Given the description of an element on the screen output the (x, y) to click on. 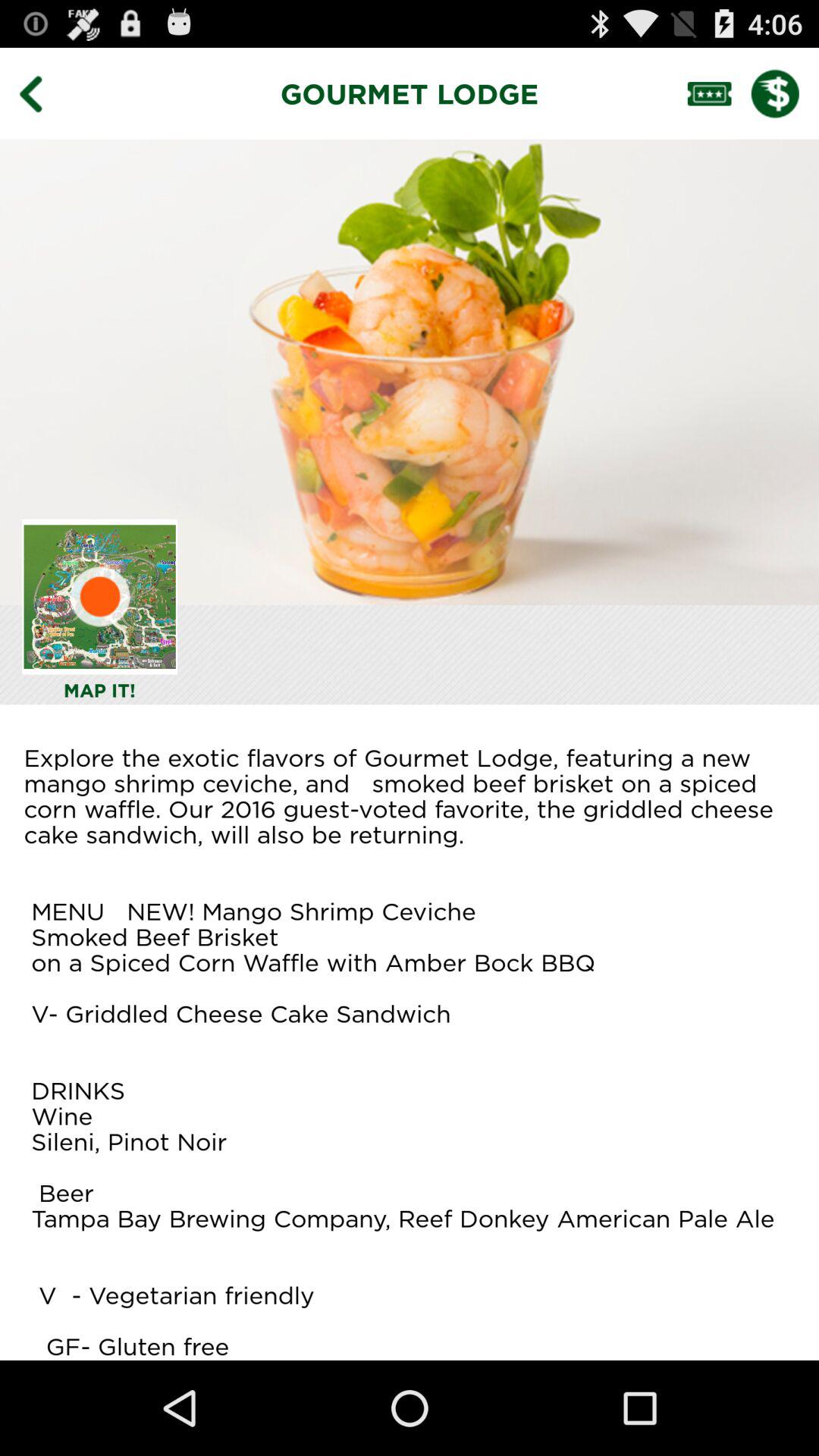
go back (41, 93)
